Given the description of an element on the screen output the (x, y) to click on. 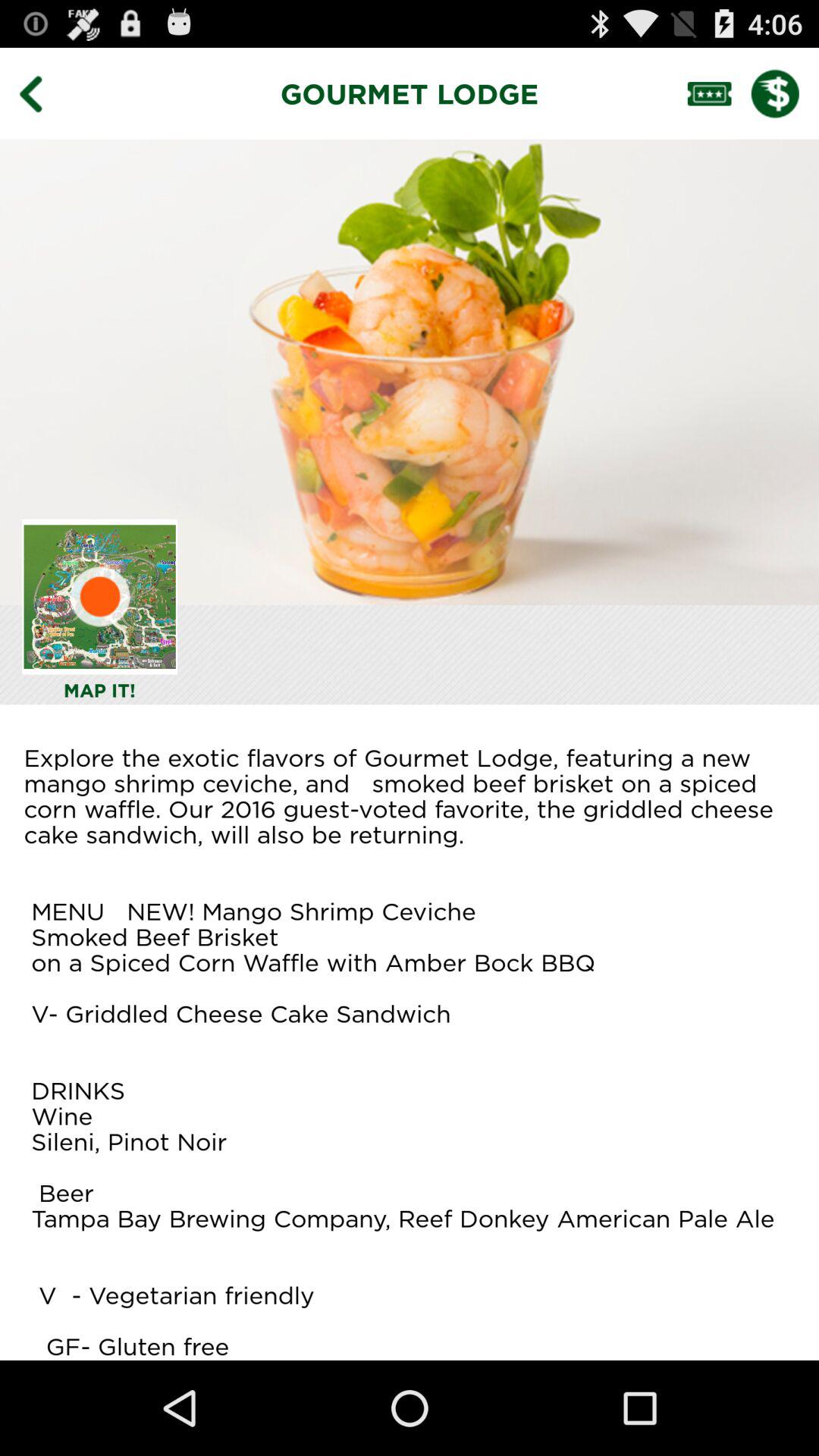
go back (41, 93)
